Given the description of an element on the screen output the (x, y) to click on. 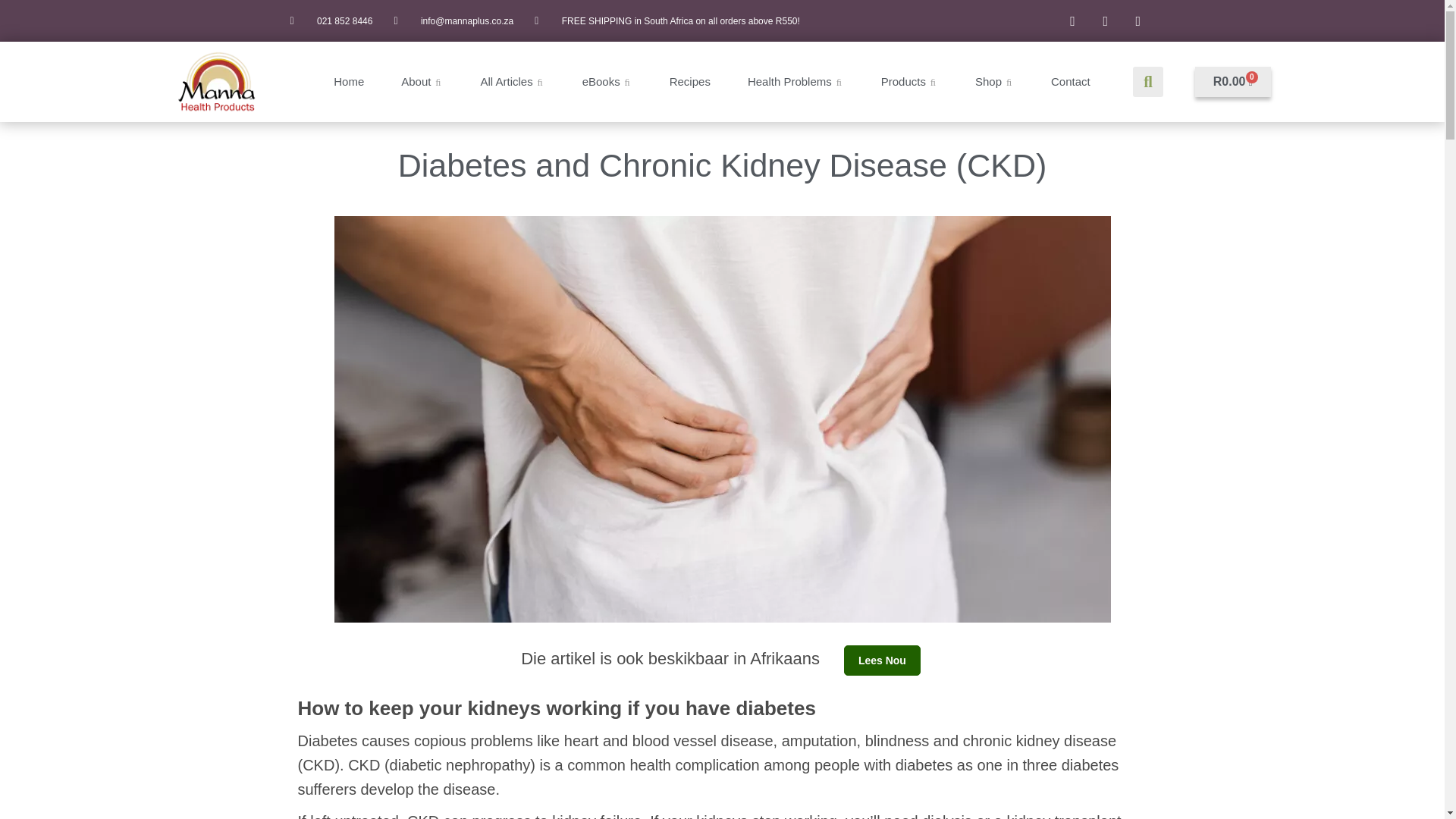
About (421, 81)
Health Problems (796, 81)
eBooks (606, 81)
All Articles (512, 81)
Home (348, 81)
Recipes (689, 81)
